Given the description of an element on the screen output the (x, y) to click on. 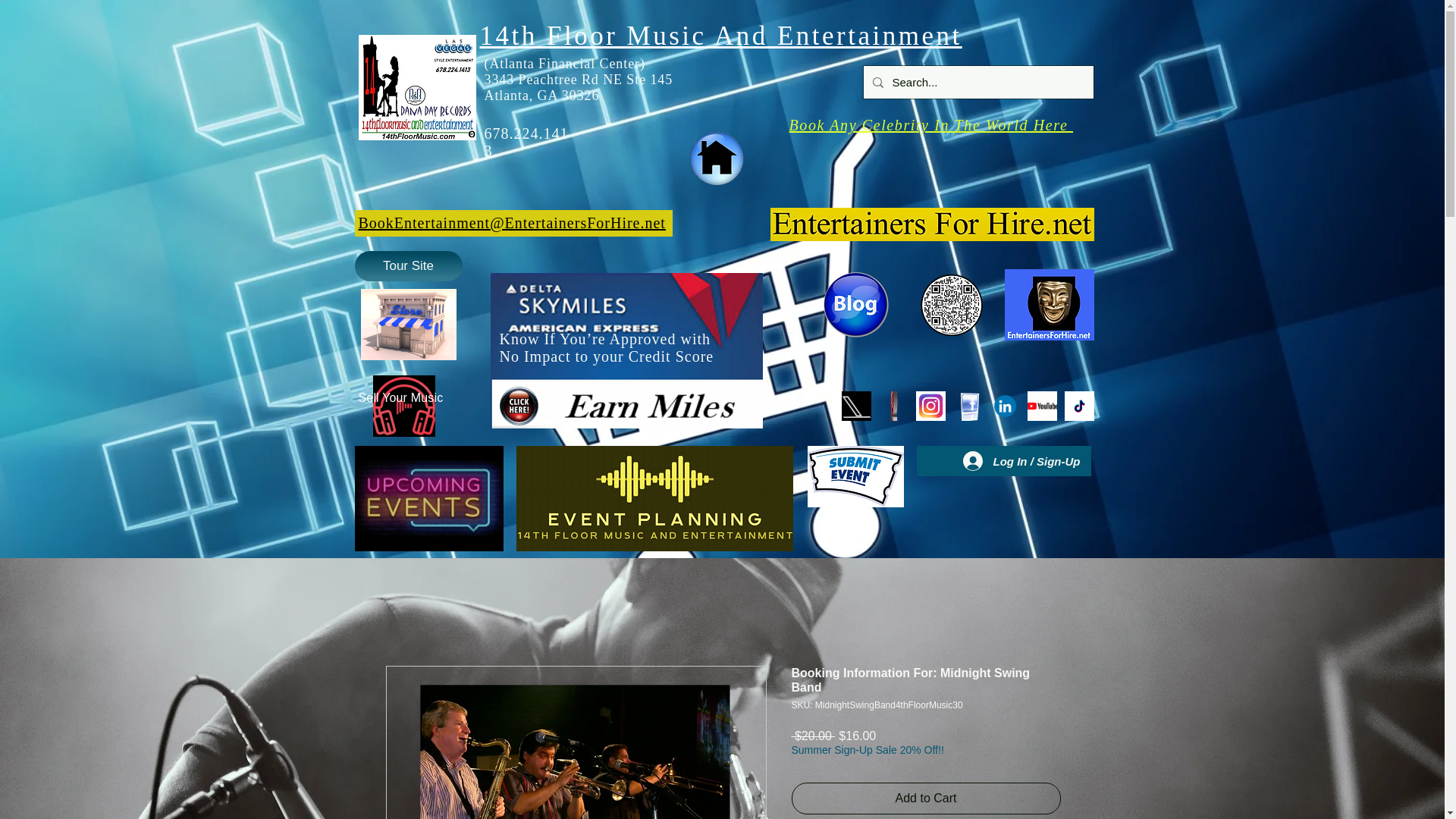
14th Floor Music And Entertainment (719, 34)
Scan Code (951, 304)
Entertainers For Hire (1048, 304)
678.224.1413 (525, 141)
Book Motown Bands, Tribute Bands, Jazz Bands, and more  (417, 87)
Submit Events (854, 475)
Book Any Celebrity In The World Here  (931, 125)
Add to Cart (926, 798)
Webstore (409, 324)
Book Motown Bands, Tribute Bands, Jazz Bands, and more (718, 159)
Upcoming Events (429, 498)
Book Motown Bands, Tribute Bands, Jazz Bands, and more (932, 224)
Event Planner (653, 498)
Sell Your Music (403, 405)
Sell Your Music (400, 397)
